Given the description of an element on the screen output the (x, y) to click on. 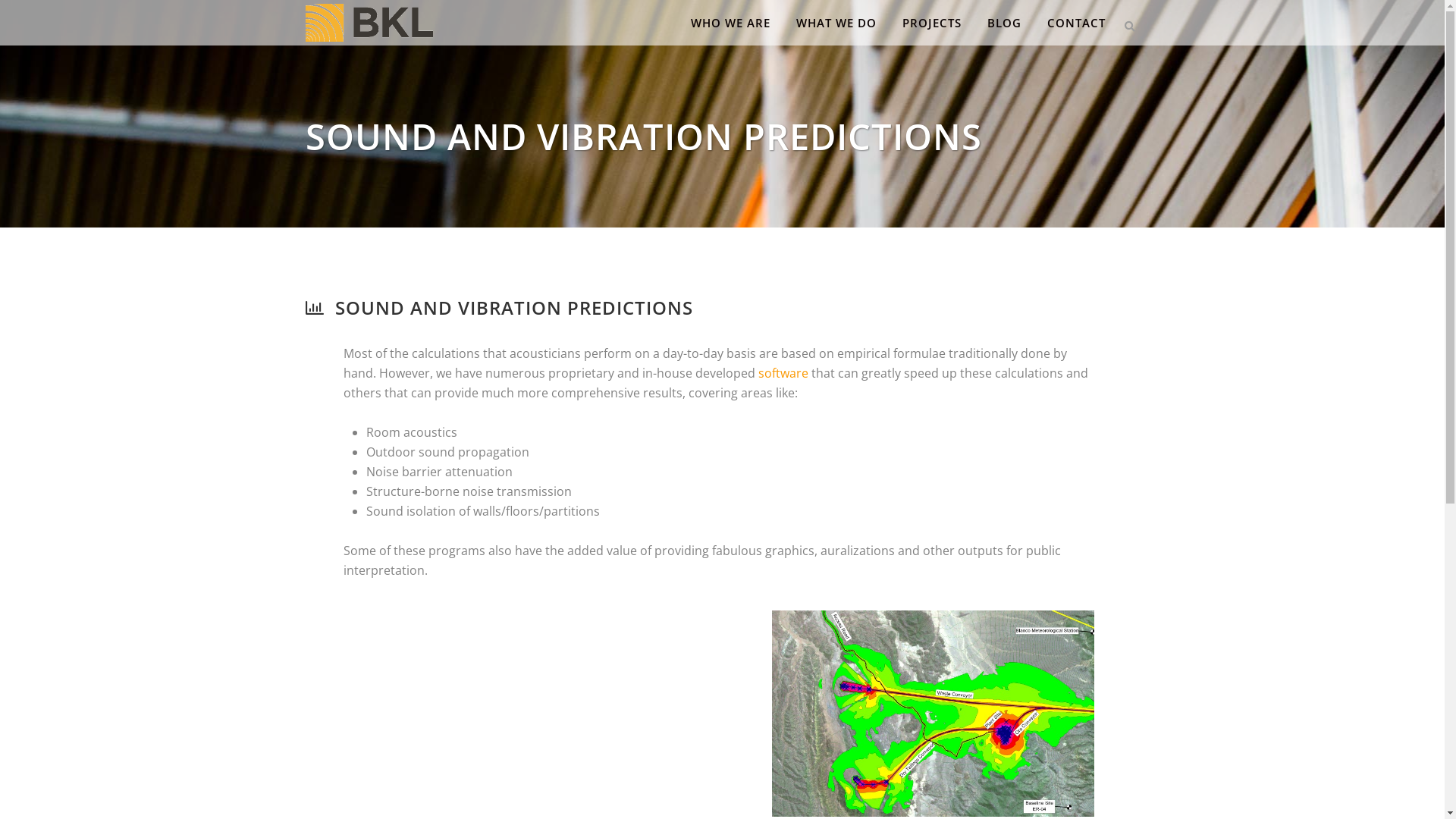
BLOG Element type: text (1003, 22)
WHAT WE DO Element type: text (835, 22)
software Element type: text (783, 372)
CONTACT Element type: text (1076, 22)
PROJECTS Element type: text (930, 22)
WHO WE ARE Element type: text (730, 22)
Mine Noise Contours Element type: hover (932, 712)
